Given the description of an element on the screen output the (x, y) to click on. 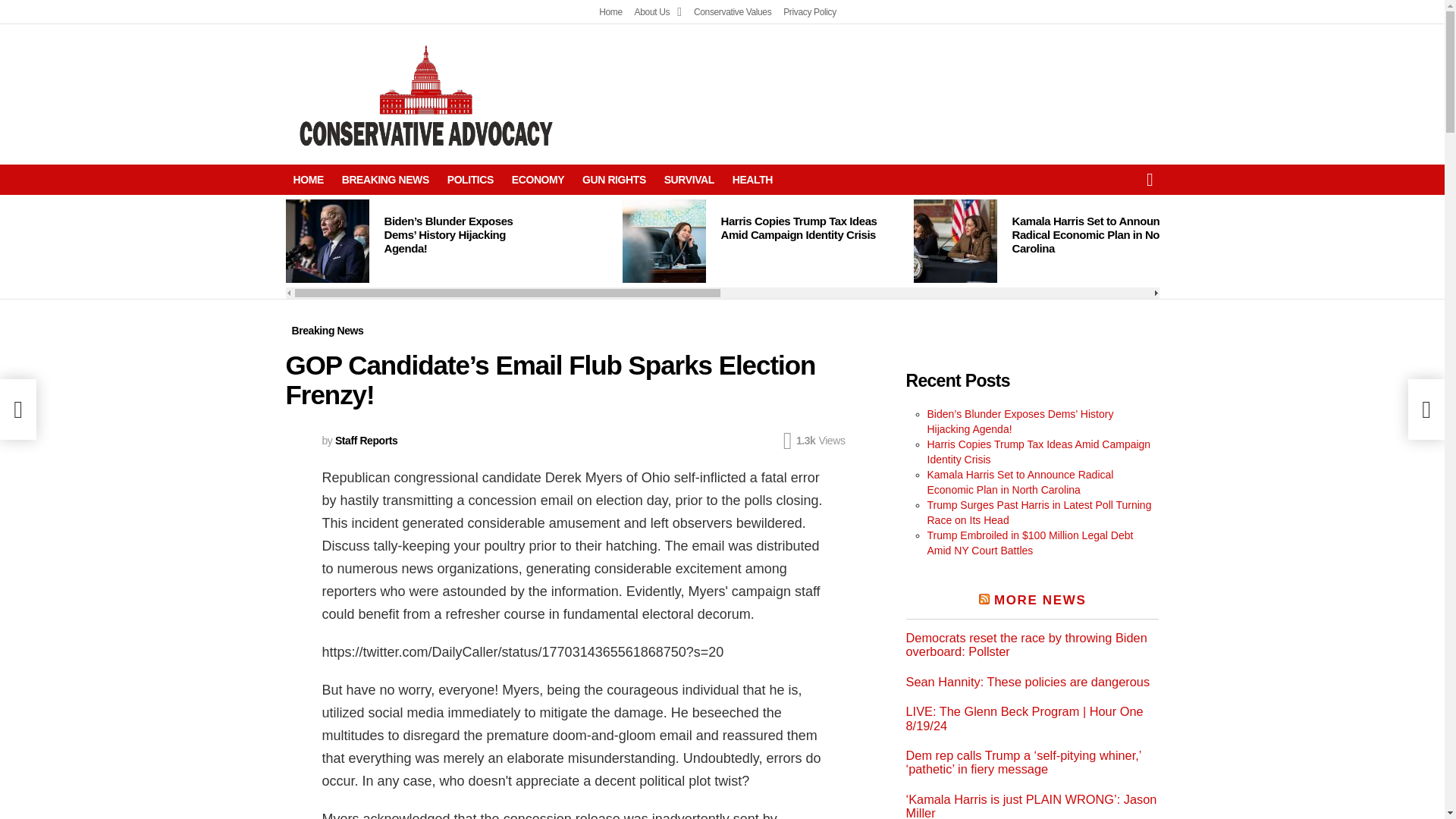
BREAKING NEWS (385, 179)
Privacy Policy (809, 12)
ECONOMY (537, 179)
Home (610, 12)
Harris Copies Trump Tax Ideas Amid Campaign Identity Crisis (662, 240)
Conservative Values (732, 12)
Breaking News (327, 330)
Harris Copies Trump Tax Ideas Amid Campaign Identity Crisis (798, 227)
HEALTH (752, 179)
About Us (657, 12)
